Given the description of an element on the screen output the (x, y) to click on. 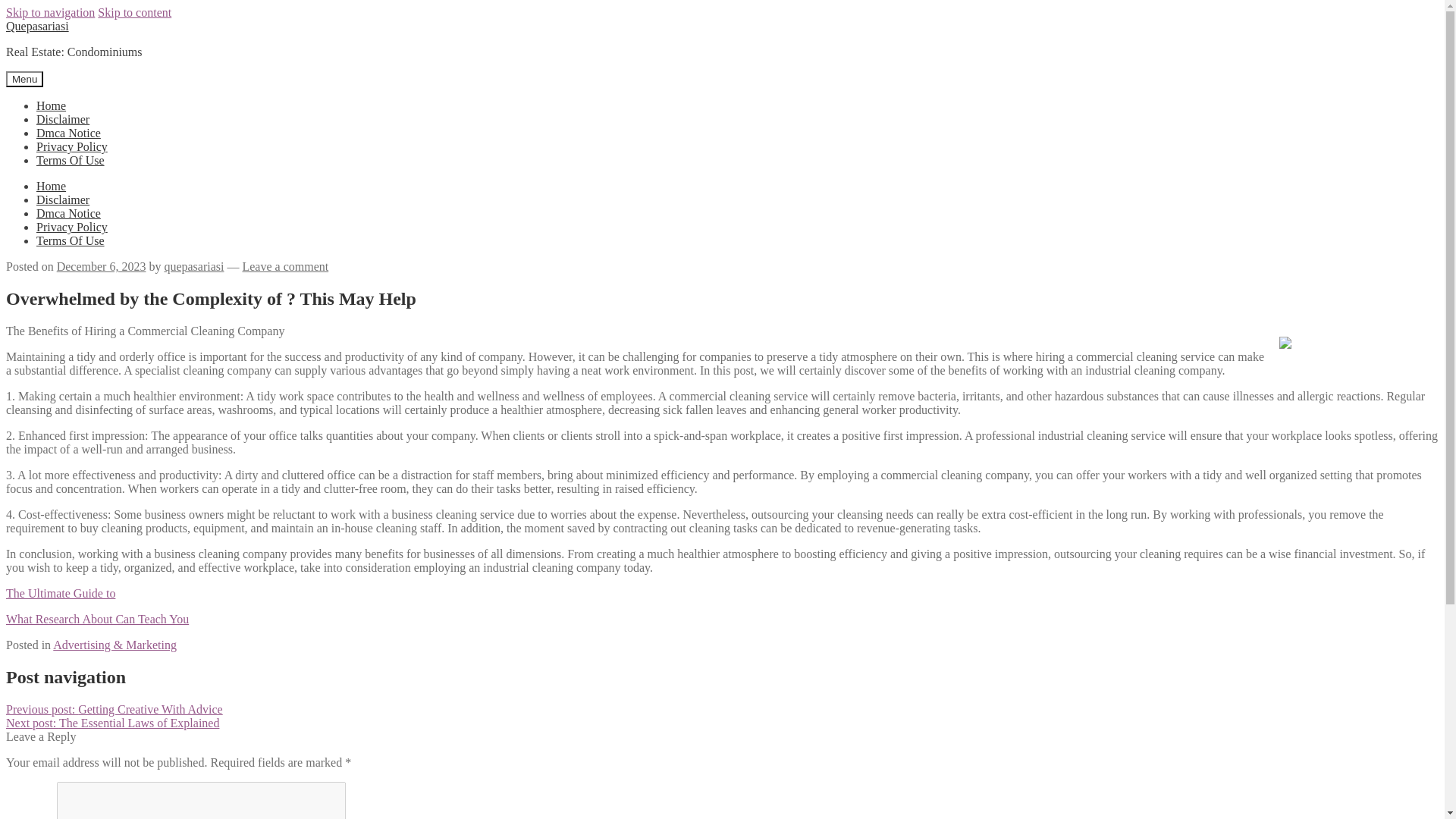
Home (50, 185)
Next post: The Essential Laws of Explained (112, 722)
Dmca Notice (68, 132)
Terms Of Use (70, 160)
Quepasariasi (36, 25)
Privacy Policy (71, 146)
Privacy Policy (71, 226)
Dmca Notice (68, 213)
What Research About Can Teach You (97, 618)
The Ultimate Guide to (60, 593)
Leave a comment (285, 266)
December 6, 2023 (101, 266)
Home (50, 105)
Disclaimer (62, 199)
quepasariasi (193, 266)
